Given the description of an element on the screen output the (x, y) to click on. 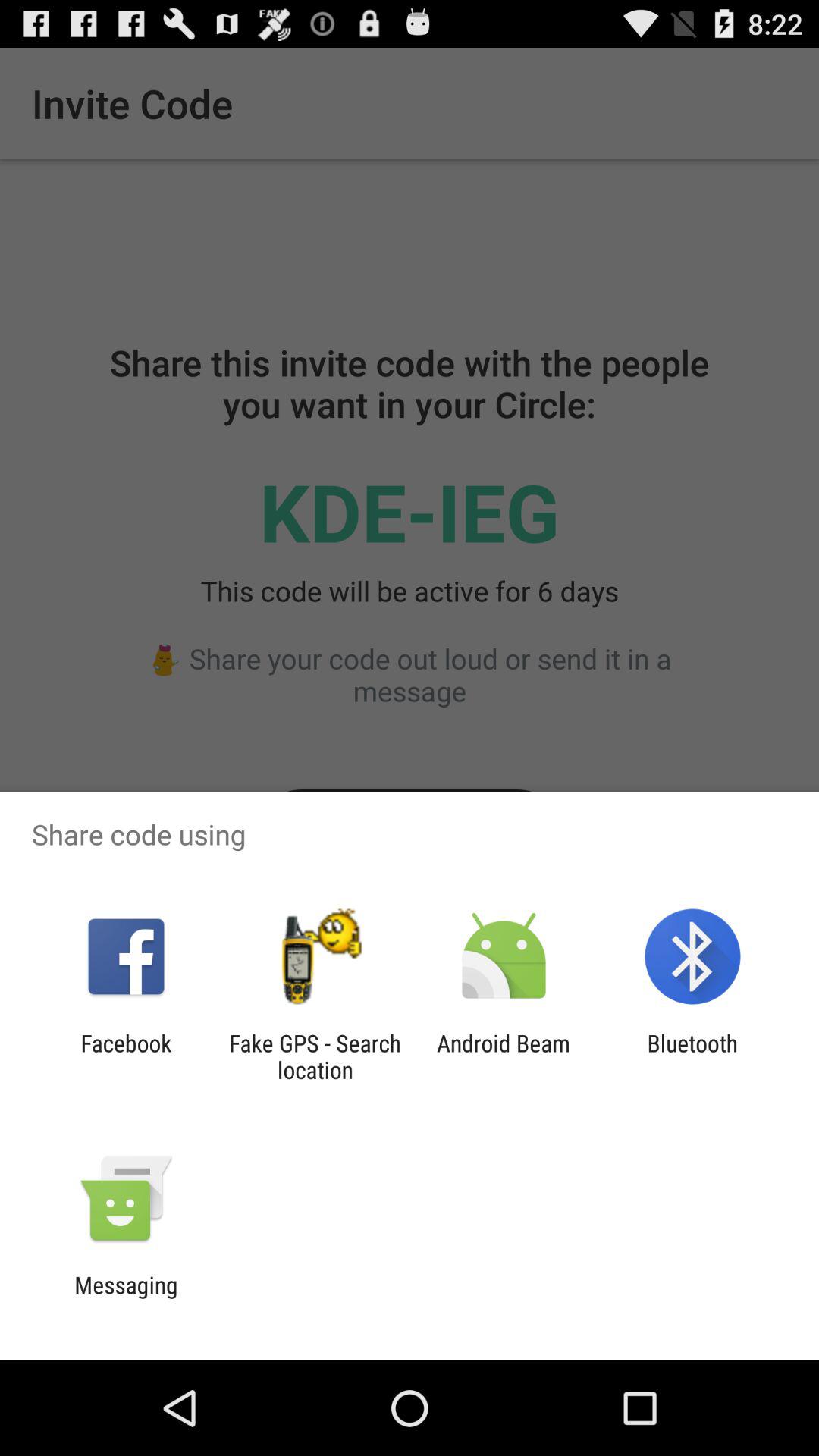
launch the app to the left of bluetooth item (503, 1056)
